Given the description of an element on the screen output the (x, y) to click on. 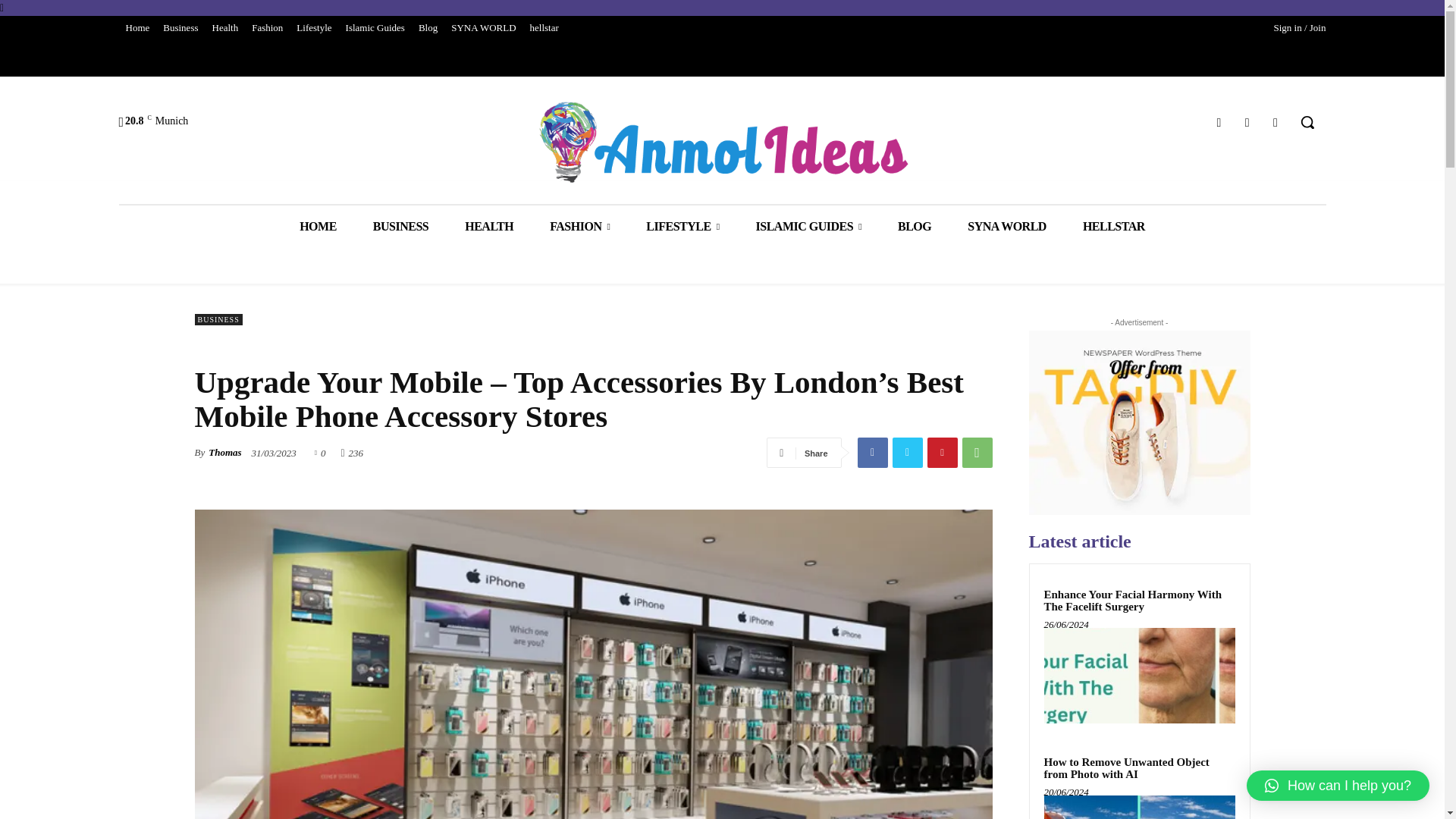
Home (136, 27)
SYNA WORLD (483, 27)
Lifestyle (313, 27)
Islamic Guides (375, 27)
BUSINESS (400, 226)
Pinterest (941, 452)
Facebook (1218, 122)
Fashion (266, 27)
FASHION (579, 226)
HEALTH (488, 226)
hellstar (544, 27)
Health (225, 27)
HOME (318, 226)
Facebook (871, 452)
